Given the description of an element on the screen output the (x, y) to click on. 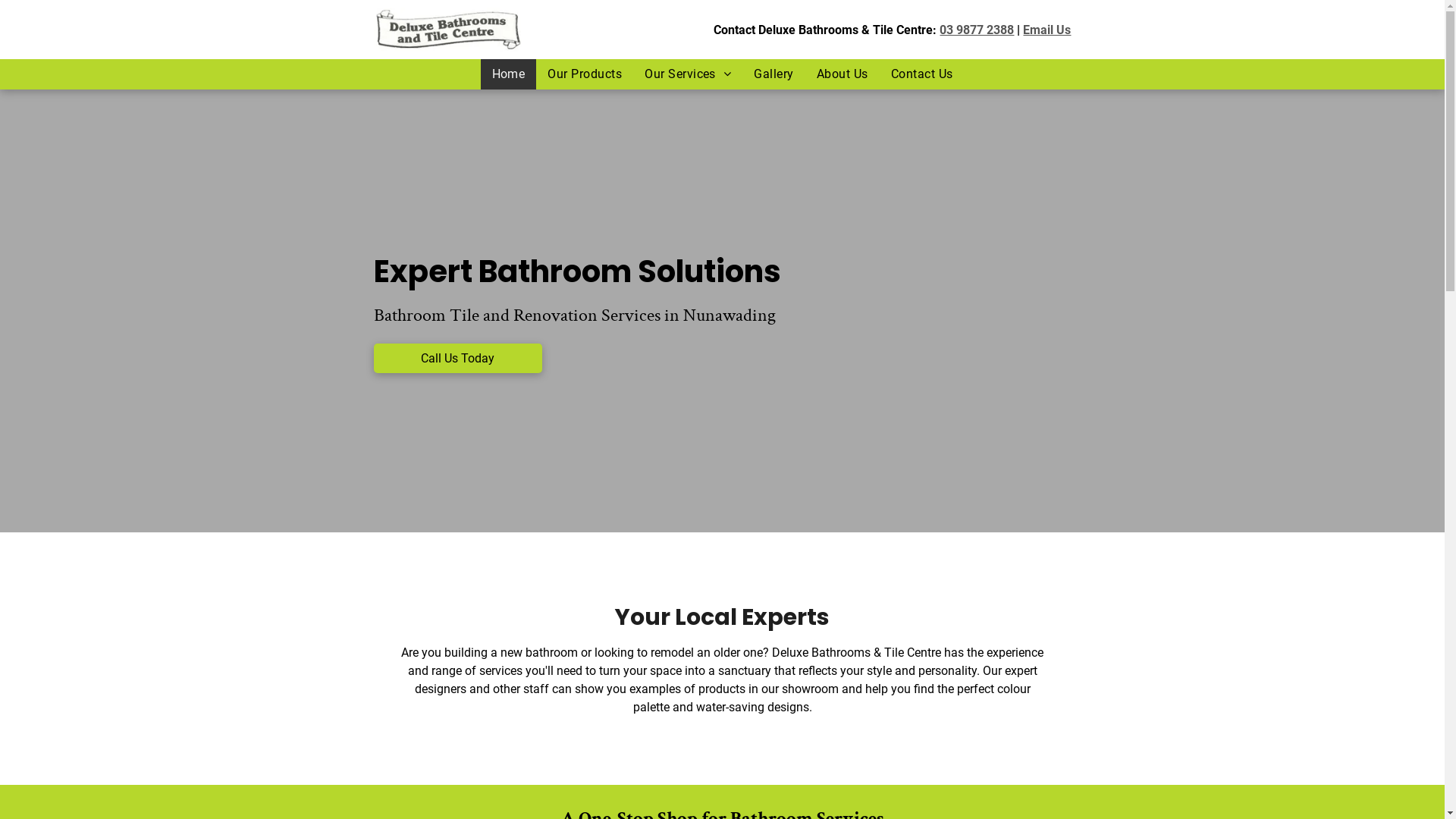
Our Services Element type: text (687, 74)
About Us Element type: text (842, 74)
Email Us Element type: text (1046, 29)
03 9877 2388 Element type: text (976, 29)
Call Us Today Element type: text (457, 358)
Home Element type: text (508, 74)
Contact Us Element type: text (921, 74)
Our Products Element type: text (584, 74)
Gallery Element type: text (773, 74)
